Given the description of an element on the screen output the (x, y) to click on. 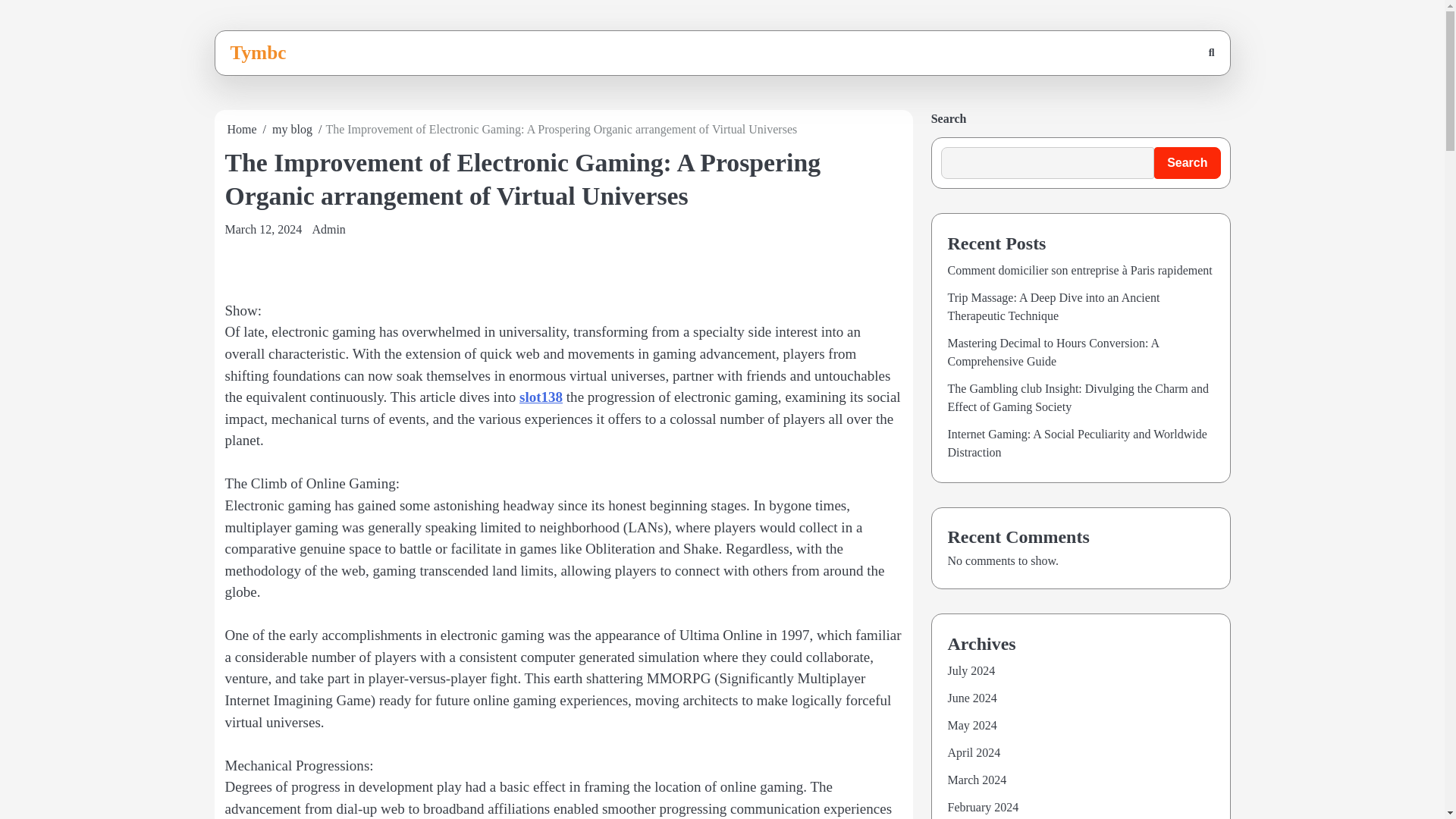
Mastering Decimal to Hours Conversion: A Comprehensive Guide (1052, 351)
slot138 (540, 396)
Home (242, 128)
Search (1175, 93)
May 2024 (972, 725)
Admin (328, 228)
Search (1187, 163)
July 2024 (971, 670)
June 2024 (972, 697)
March 2024 (977, 779)
my blog (292, 128)
March 12, 2024 (262, 228)
April 2024 (974, 752)
Tymbc (258, 52)
